Given the description of an element on the screen output the (x, y) to click on. 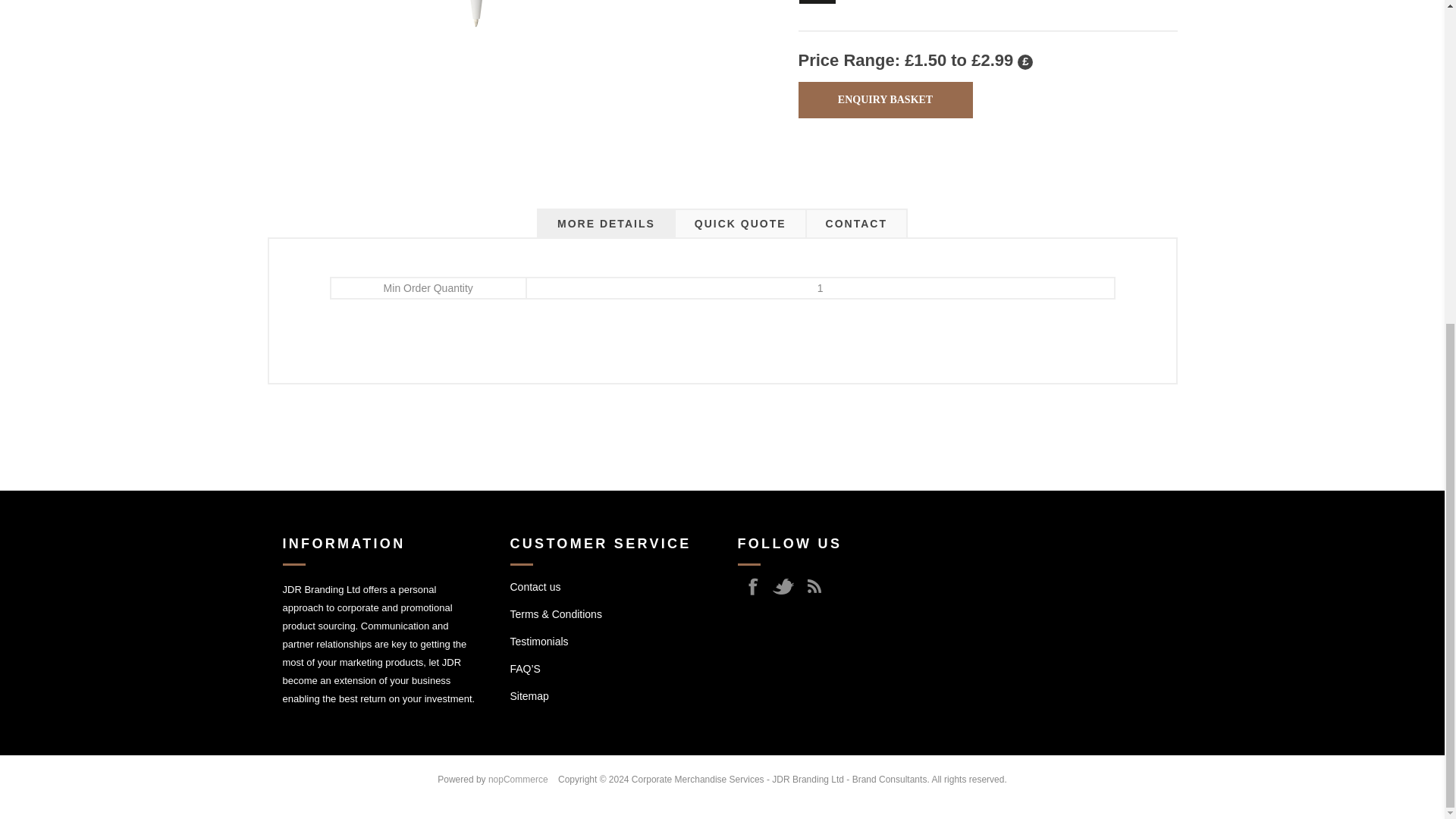
Contact us (534, 586)
Picture of POST CONSUMER RECYCLED PEN COLOUR in Grey-Black (475, 46)
Add to Ideas List (817, 2)
Testimonials (538, 641)
Sitemap (528, 695)
Enquiry Basket (884, 99)
CONTACT (856, 223)
QUICK QUOTE (740, 223)
MORE DETAILS (606, 223)
